Given the description of an element on the screen output the (x, y) to click on. 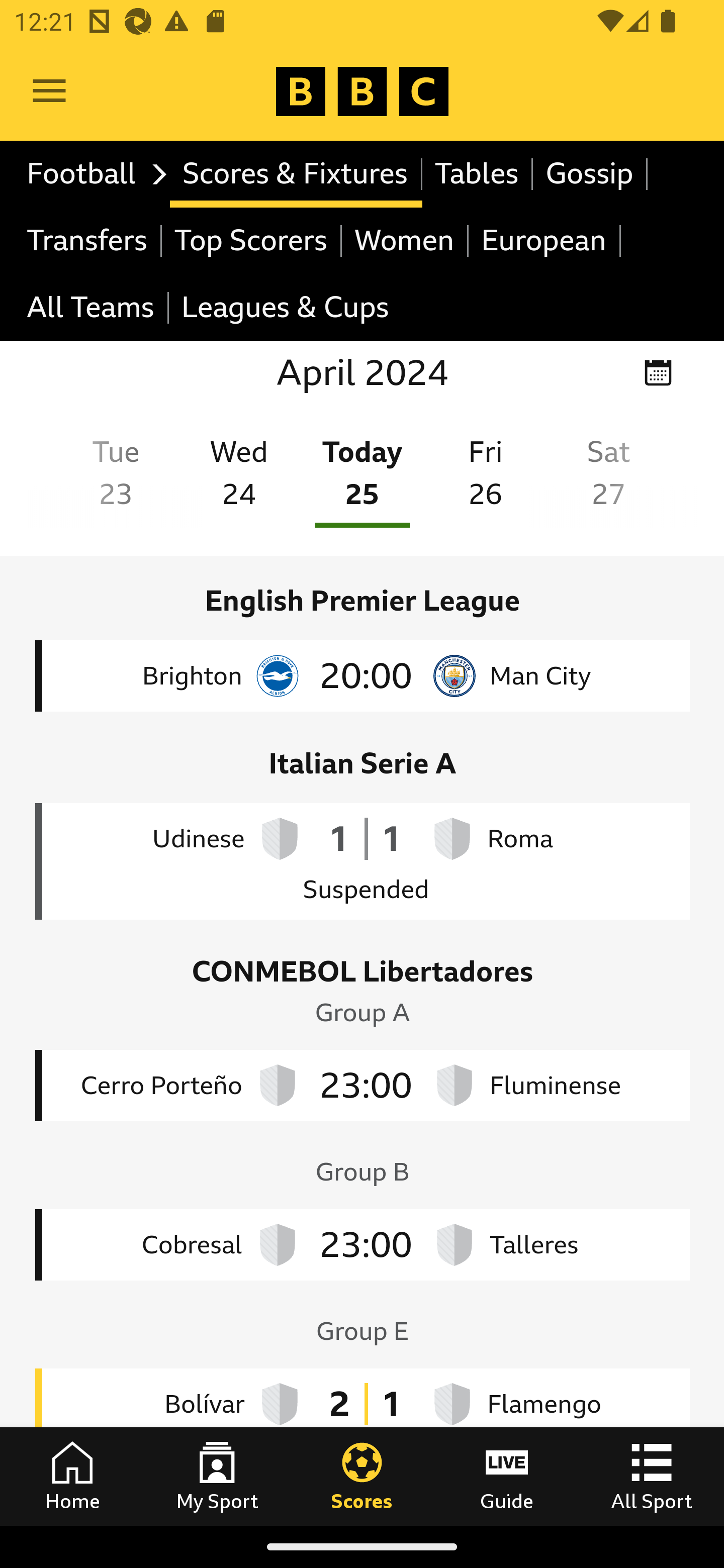
Open Menu (49, 91)
Football (91, 173)
Scores & Fixtures (295, 173)
Tables (477, 173)
Gossip (590, 173)
Transfers (88, 240)
Top Scorers (251, 240)
Women (405, 240)
European (544, 240)
All Teams (91, 308)
Leagues & Cups (284, 308)
Home (72, 1475)
My Sport (216, 1475)
Guide (506, 1475)
All Sport (651, 1475)
